Given the description of an element on the screen output the (x, y) to click on. 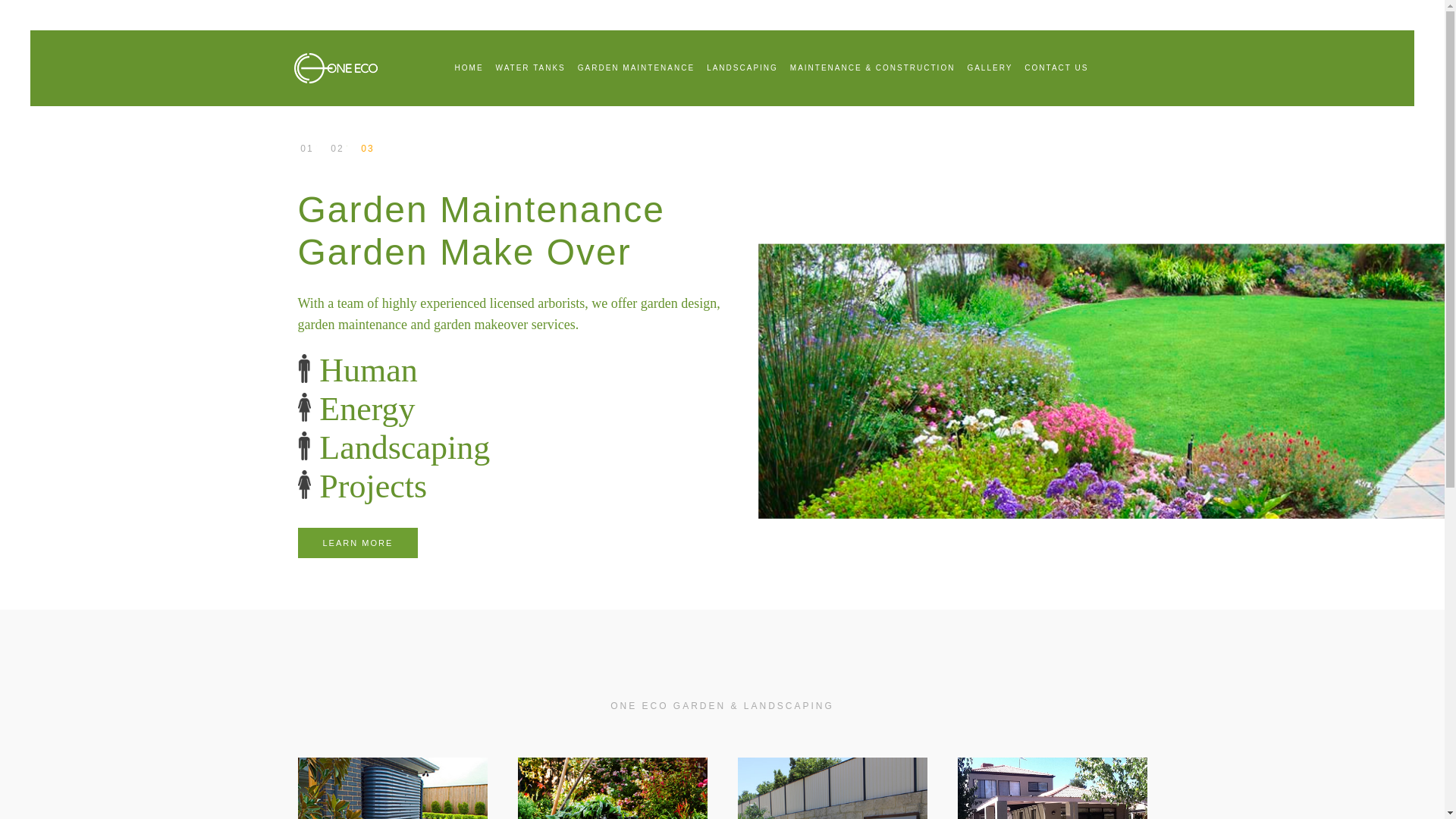
CONTACT US Element type: text (1056, 68)
GALLERY Element type: text (989, 68)
Landscaping and Design Element type: text (306, 148)
WATER TANKS Element type: text (530, 68)
Garden Maintenance
Garden Make Over Element type: text (366, 148)
MAINTENANCE & CONSTRUCTION Element type: text (872, 68)
HOME Element type: text (468, 68)
GARDEN MAINTENANCE Element type: text (635, 68)
LEARN MORE Element type: text (357, 542)
Water Tanks Element type: text (336, 148)
LANDSCAPING Element type: text (742, 68)
